Given the description of an element on the screen output the (x, y) to click on. 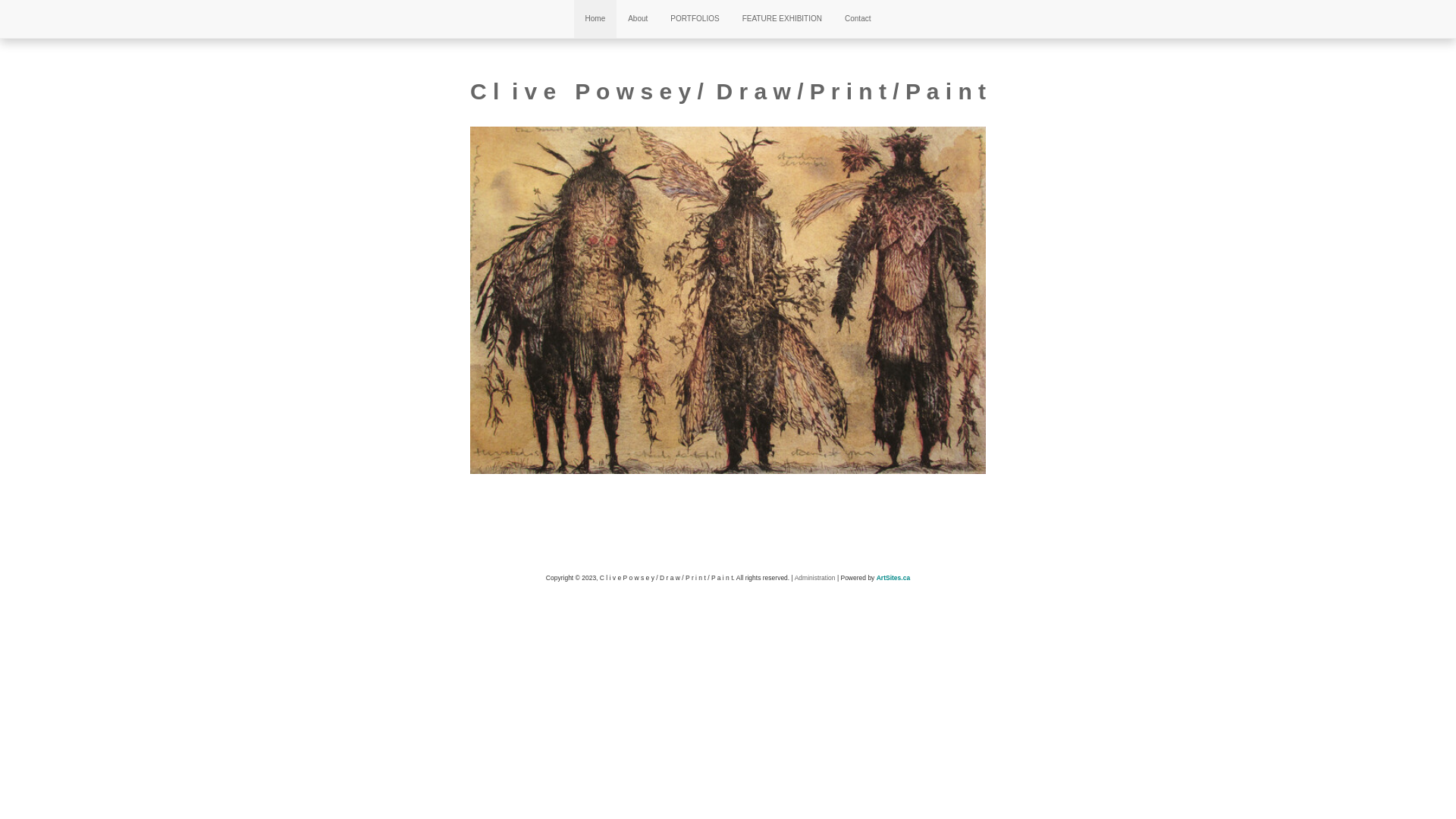
Contact Element type: text (857, 18)
About Element type: text (637, 18)
C l  i v e   P o w s e y /  D r a w / P r i n t / P a i n t Element type: text (727, 90)
PORTFOLIOS Element type: text (694, 18)
ArtSites.ca Element type: text (893, 577)
Home Element type: text (595, 18)
Administration Element type: text (814, 577)
FEATURE EXHIBITION Element type: text (782, 18)
